Given the description of an element on the screen output the (x, y) to click on. 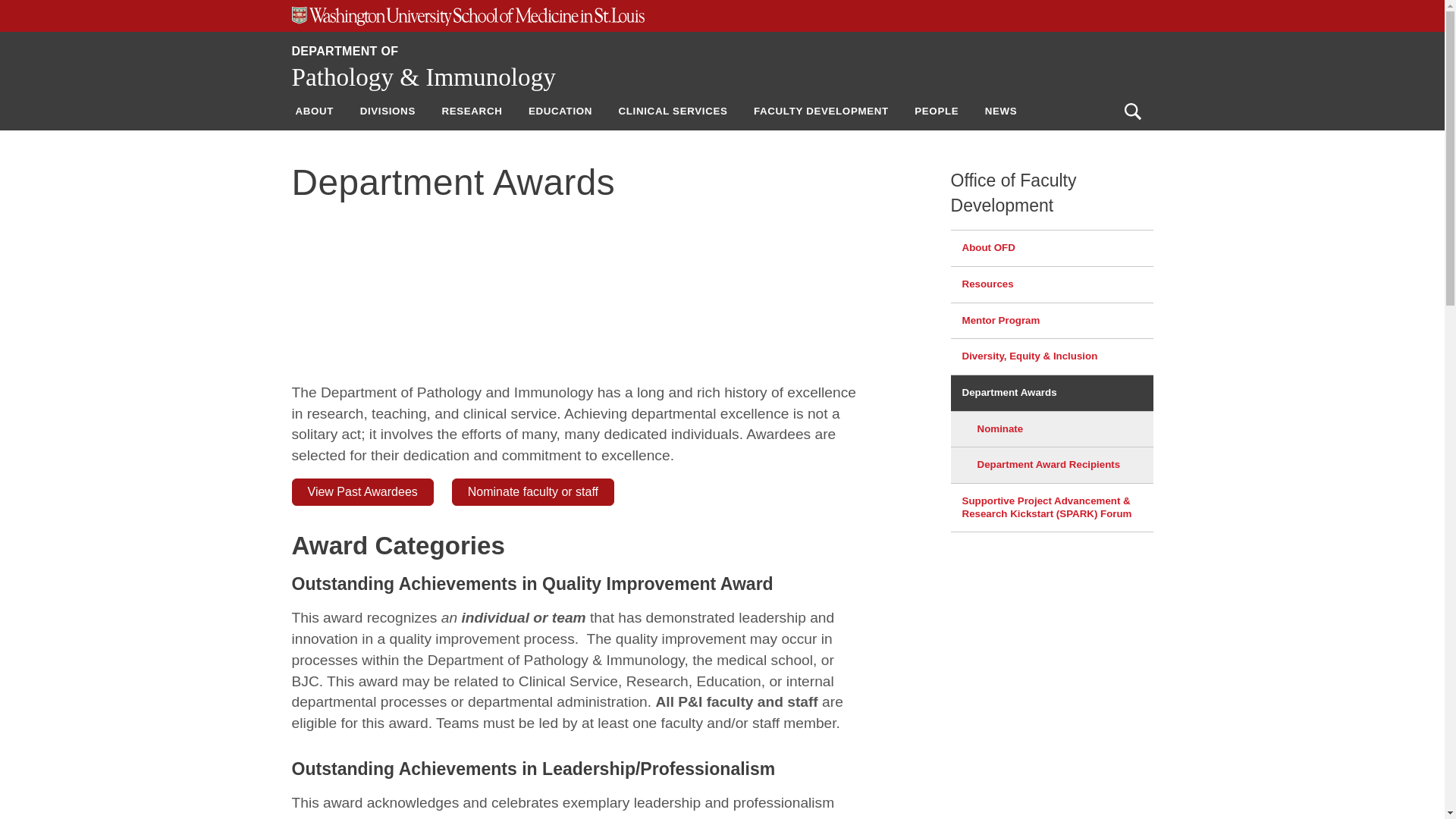
RESEARCH (471, 110)
ABOUT (314, 110)
DIVISIONS (387, 110)
EDUCATION (560, 110)
